Given the description of an element on the screen output the (x, y) to click on. 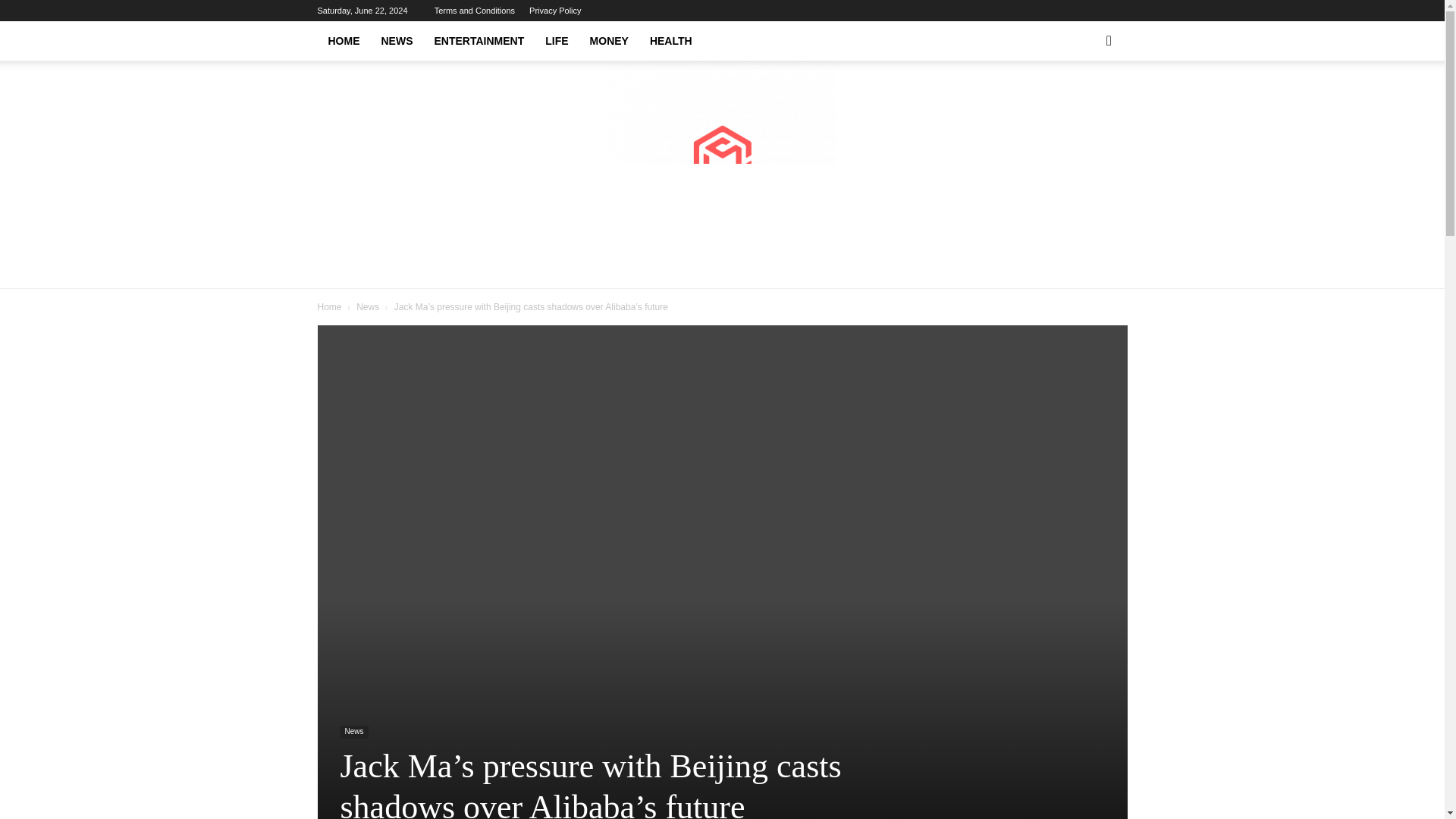
Terms and Conditions (474, 10)
ENTERTAINMENT (478, 40)
View all posts in News (367, 307)
LIFE (556, 40)
HEALTH (671, 40)
NEWS (396, 40)
THE CARNIVAL PRESS (721, 174)
Privacy Policy (554, 10)
HOME (343, 40)
MONEY (609, 40)
News (353, 731)
Search (1085, 102)
News (367, 307)
Home (328, 307)
